Given the description of an element on the screen output the (x, y) to click on. 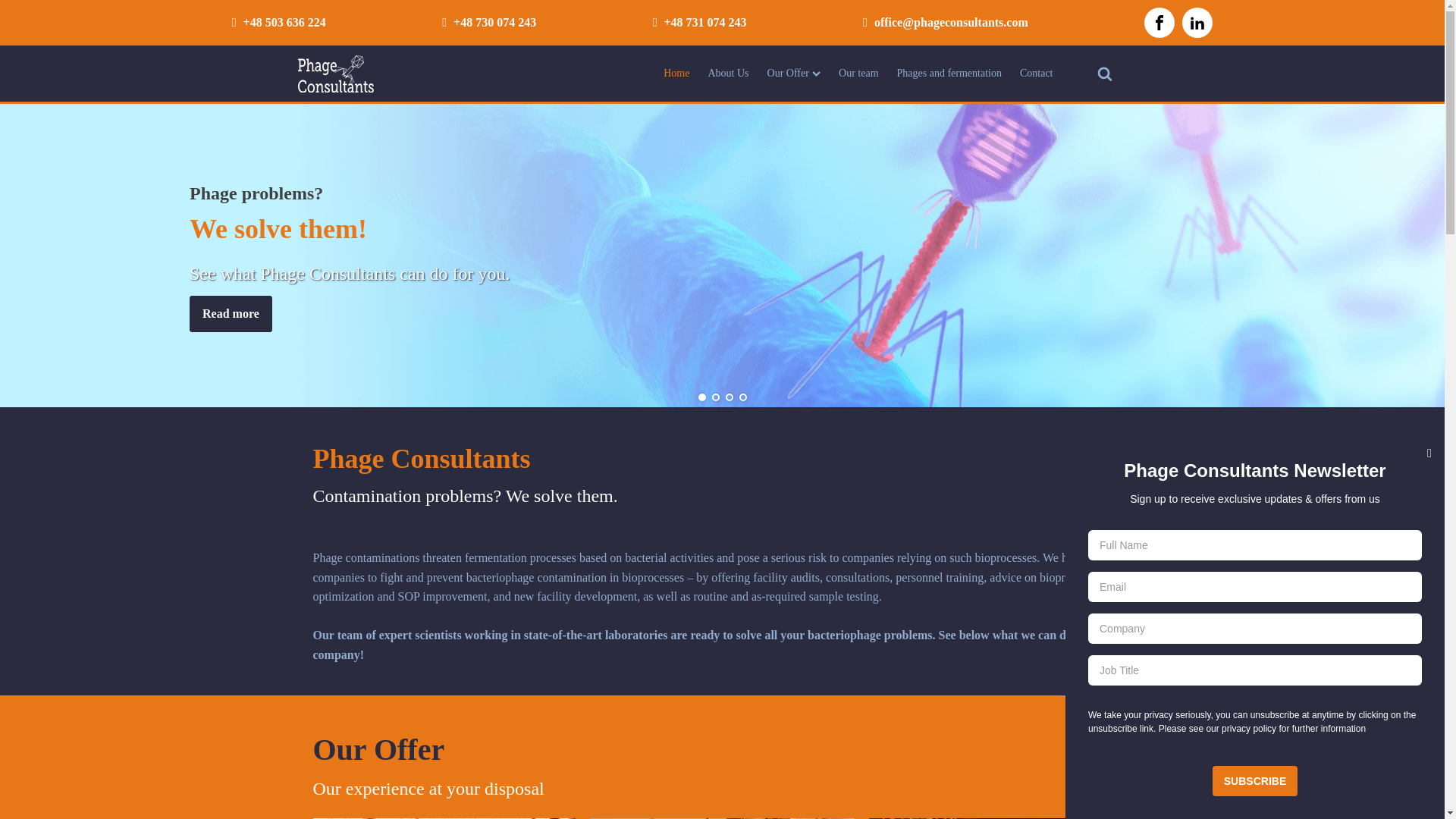
Our team (857, 72)
About Us (727, 72)
Our Offer (793, 72)
Home (675, 72)
Contact (1036, 72)
Phages and fermentation (949, 72)
Read more (230, 313)
